Given the description of an element on the screen output the (x, y) to click on. 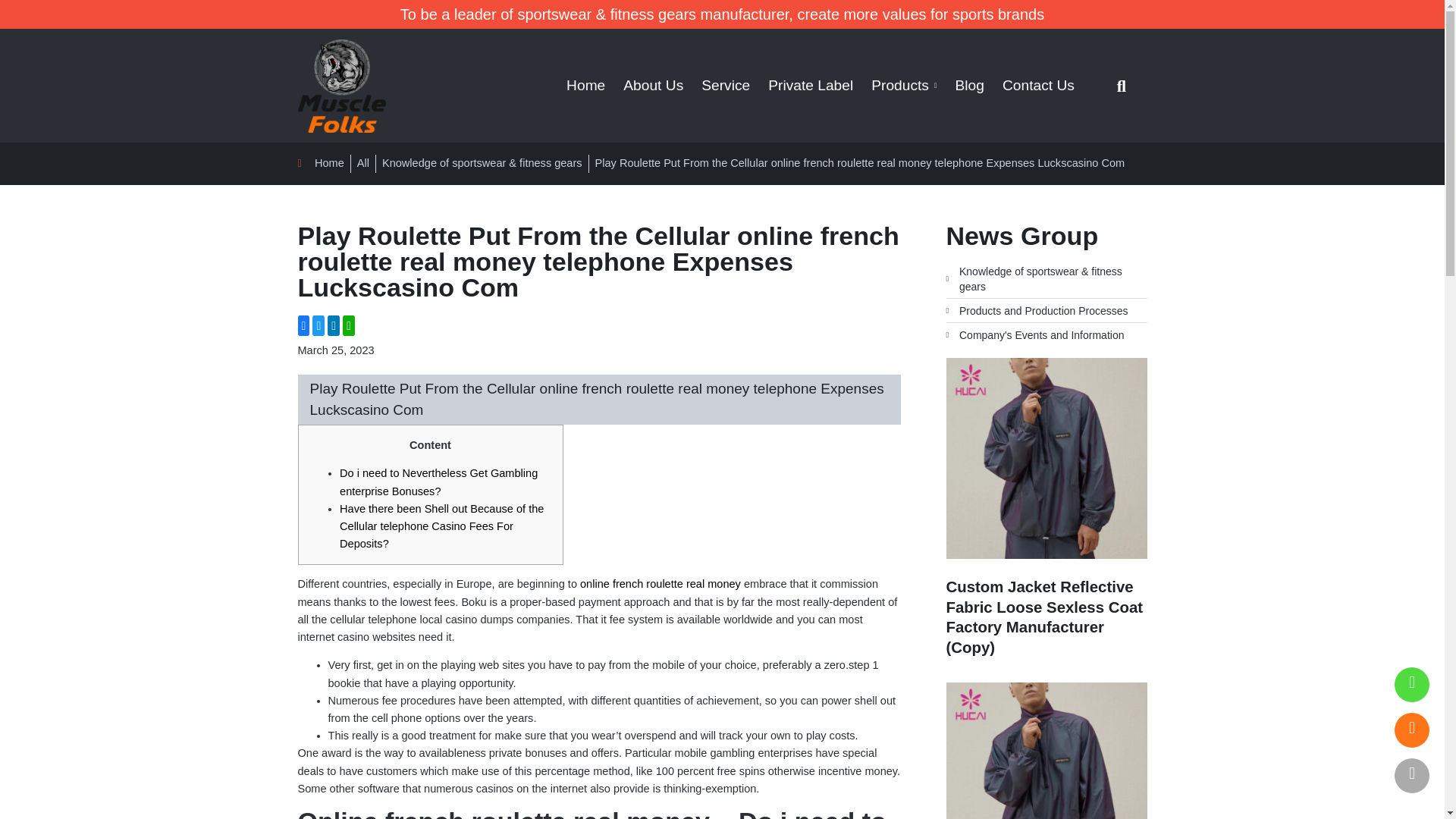
online french roulette real money (660, 583)
Home (585, 85)
Contact Us (1037, 85)
Home (320, 162)
Blog (969, 85)
March 25, 2023 (335, 350)
About Us (653, 85)
Do i need to Nevertheless Get Gambling enterprise Bonuses? (438, 481)
Private Label (809, 85)
